Given the description of an element on the screen output the (x, y) to click on. 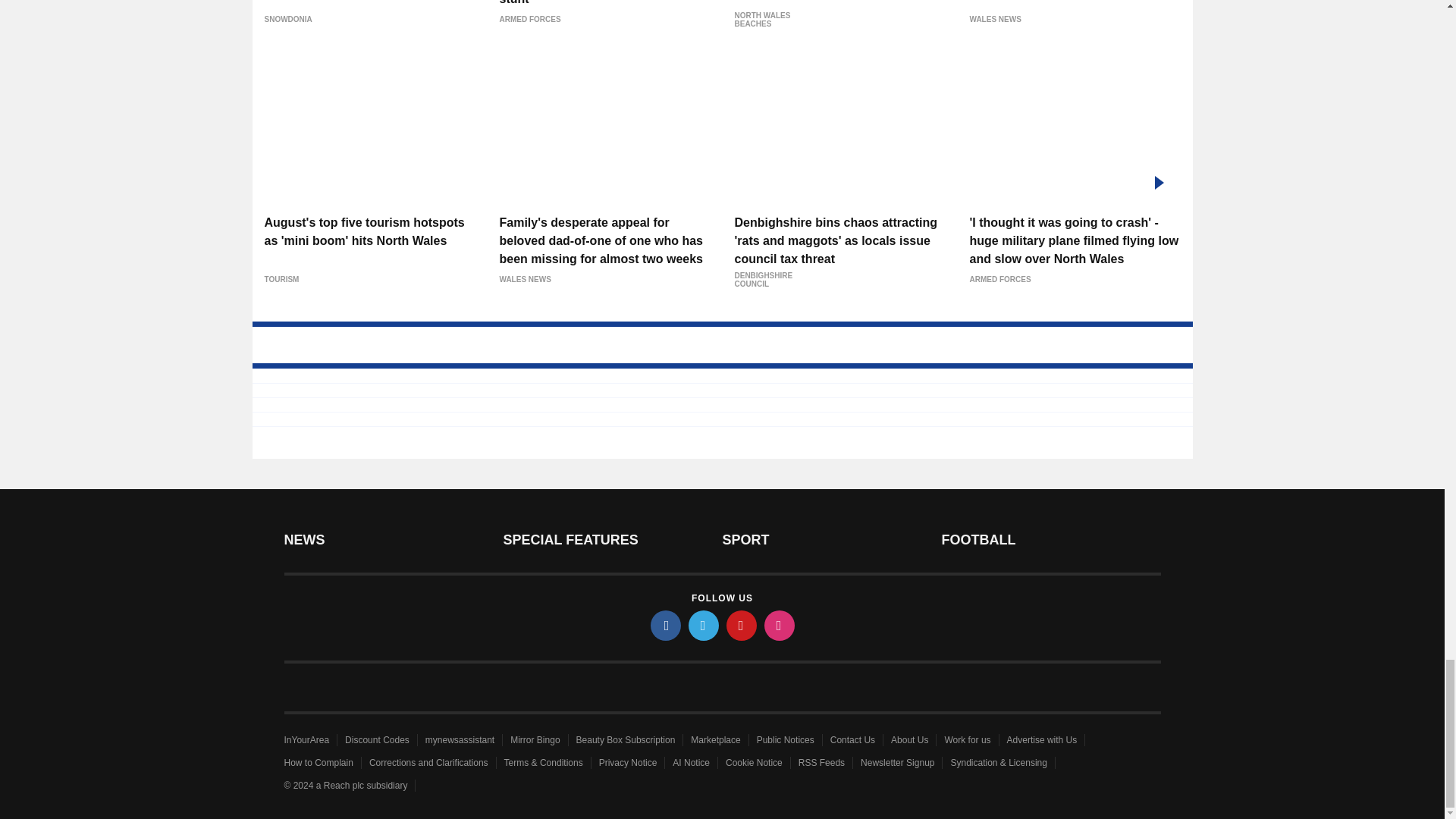
instagram (779, 625)
facebook (665, 625)
twitter (703, 625)
pinterest (741, 625)
